Given the description of an element on the screen output the (x, y) to click on. 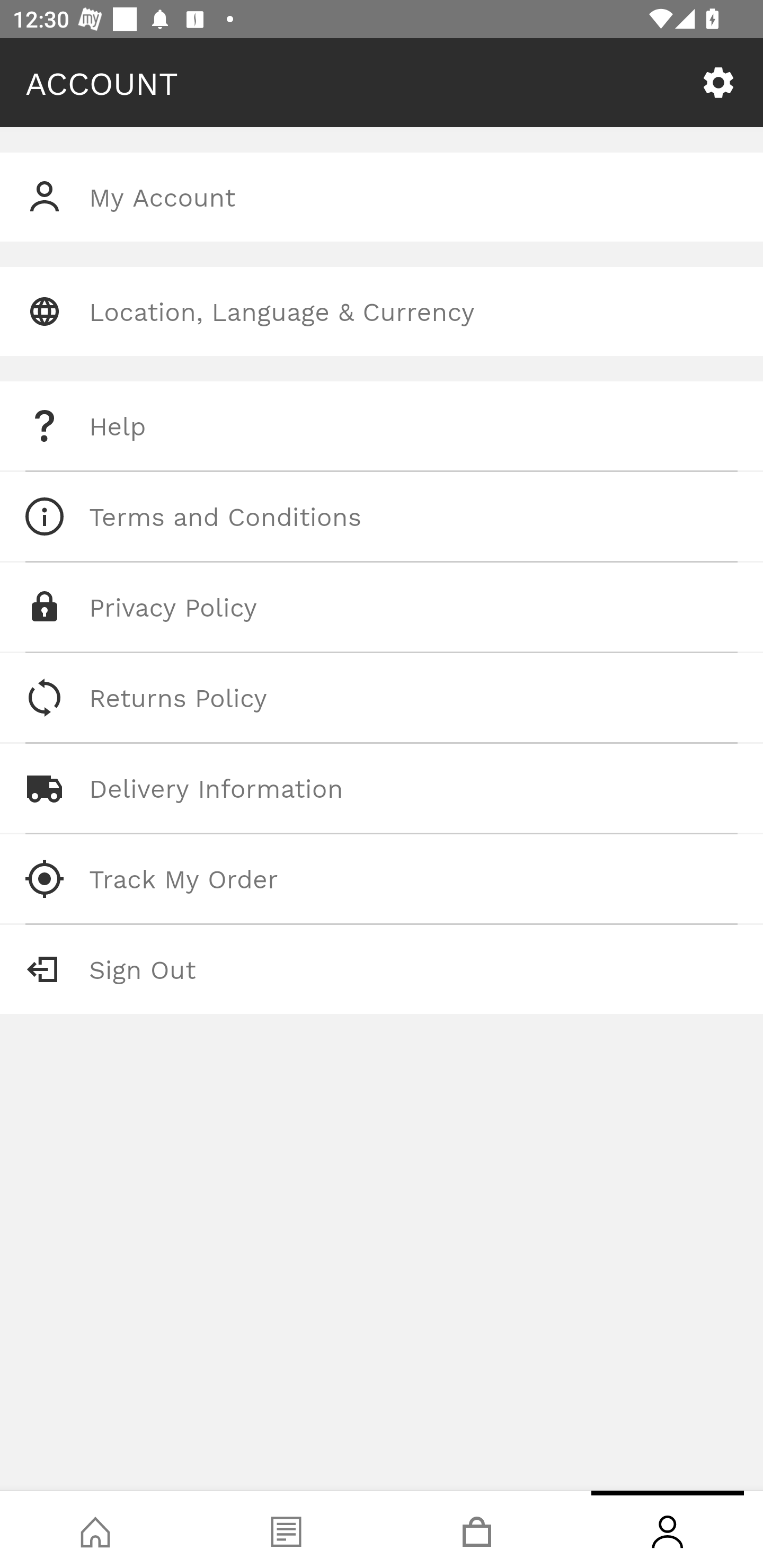
SETTINGS (718, 82)
My Account (381, 196)
Location, Language & Currency (381, 310)
Help (381, 425)
Terms and Conditions (381, 516)
Privacy Policy (381, 607)
Returns Policy (381, 697)
Delivery Information (381, 787)
Track My Order (381, 878)
Sign Out (381, 969)
Shop, tab, 1 of 4 (95, 1529)
Blog, tab, 2 of 4 (285, 1529)
Basket, tab, 3 of 4 (476, 1529)
Account, tab, 4 of 4 (667, 1529)
